Given the description of an element on the screen output the (x, y) to click on. 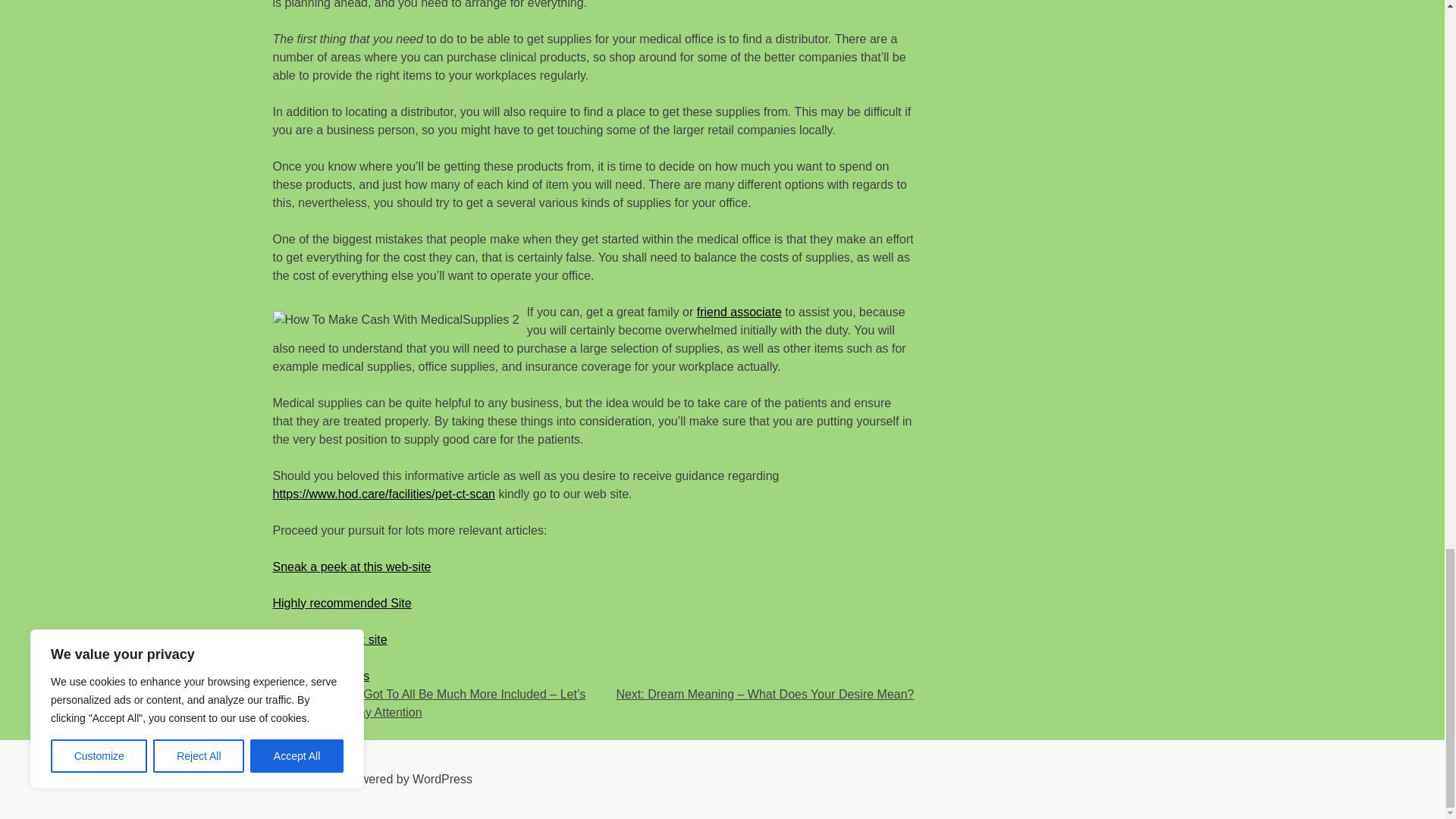
just click the next site (330, 638)
friend associate (739, 310)
Highly recommended Site (342, 602)
Sneak a peek at this web-site (351, 565)
